Given the description of an element on the screen output the (x, y) to click on. 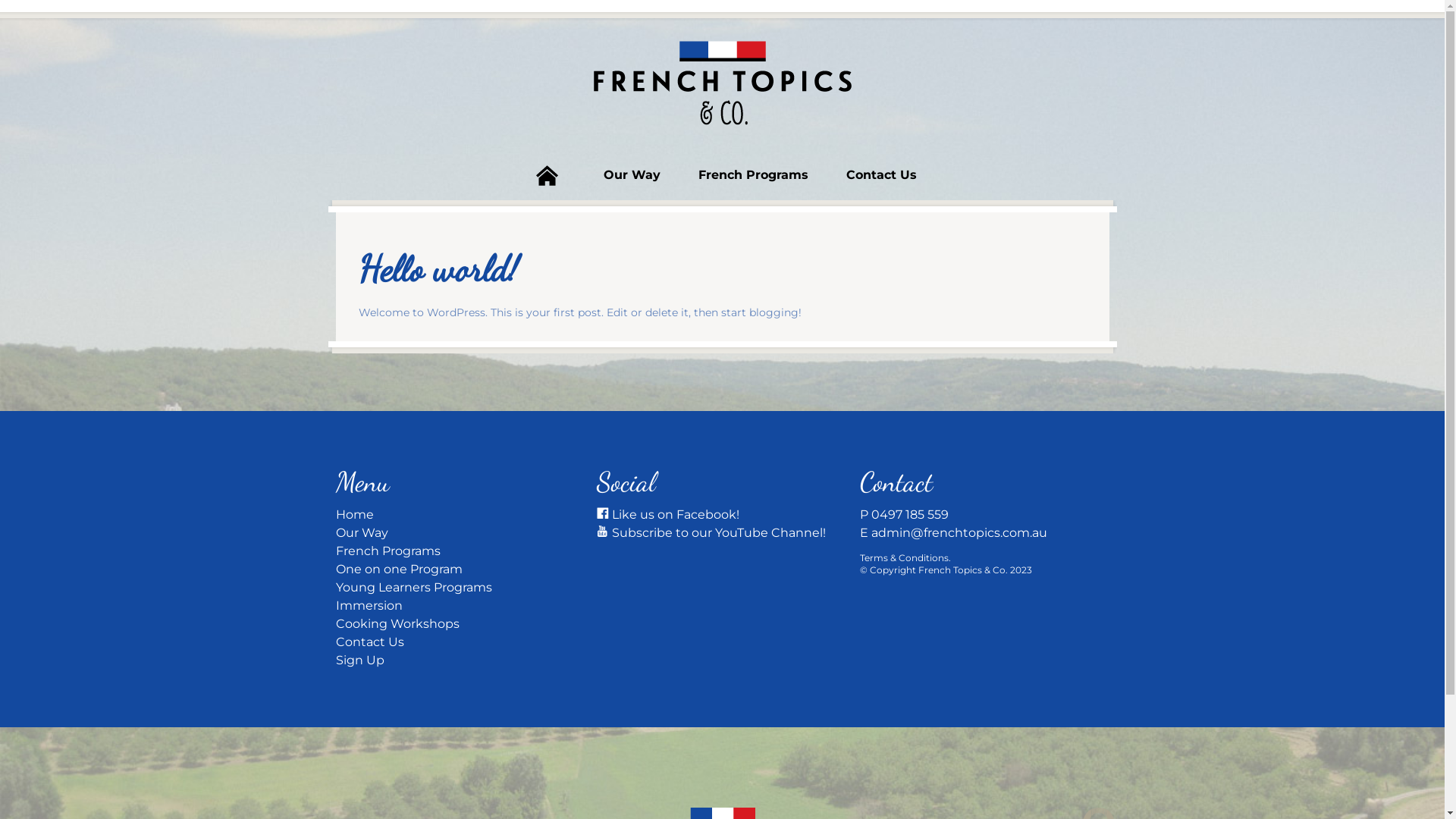
Home Element type: text (546, 175)
French Programs Element type: text (753, 175)
Copyright French Topics & Co. 2023 Element type: text (950, 569)
Immersion Element type: text (368, 605)
Contact Us Element type: text (881, 175)
One on one Program Element type: text (398, 568)
Like us on Facebook! Element type: text (667, 514)
Sign Up Element type: text (359, 659)
Our Way Element type: text (631, 175)
Subscribe to our YouTube Channel! Element type: text (710, 532)
Terms & Conditions. Element type: text (904, 557)
Cooking Workshops Element type: text (396, 623)
Our Way Element type: text (361, 532)
French Programs Element type: text (387, 550)
Home Element type: text (354, 514)
Contact Us Element type: text (369, 641)
Young Learners Programs Element type: text (413, 587)
